Given the description of an element on the screen output the (x, y) to click on. 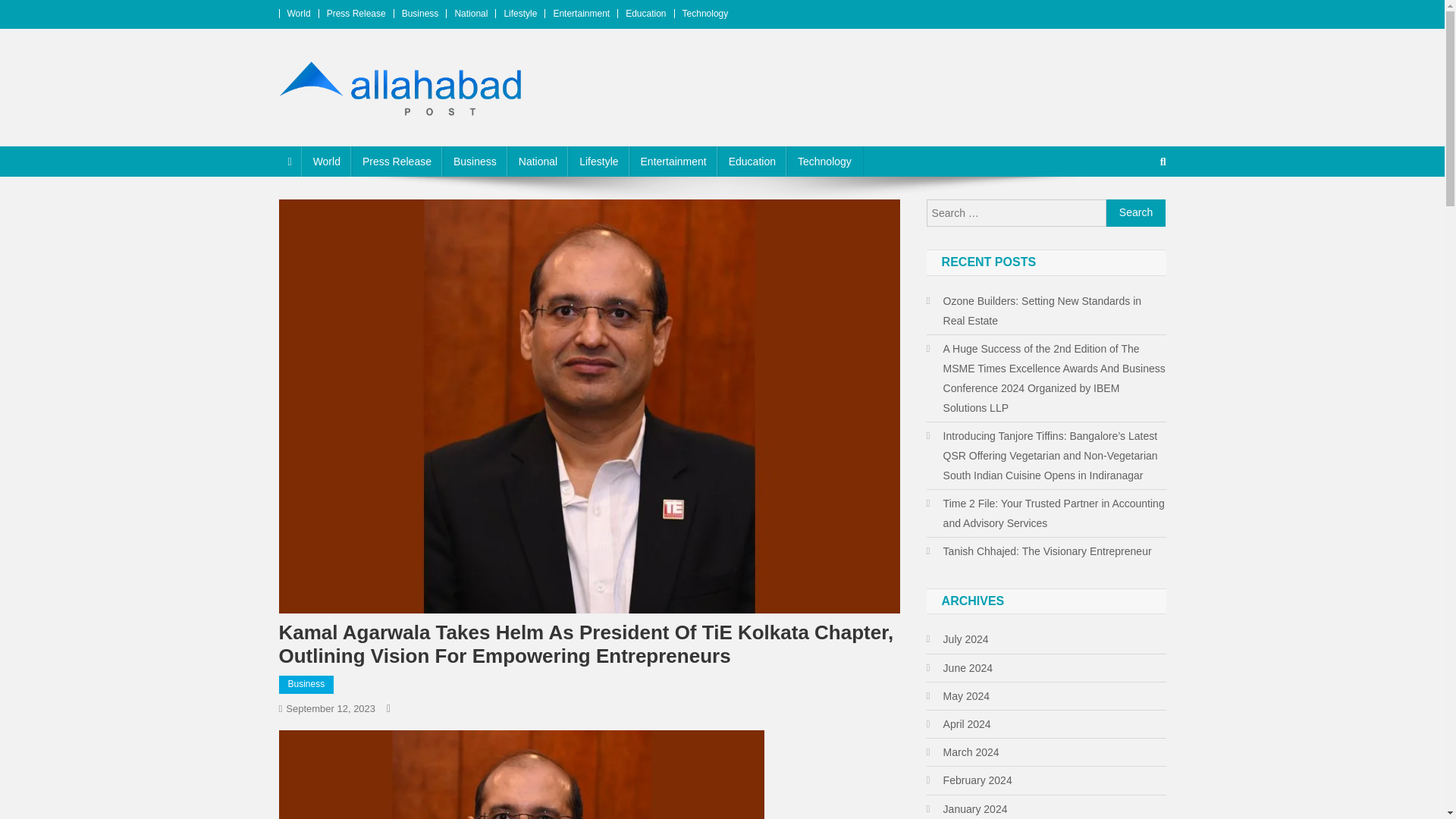
Technology (824, 161)
Entertainment (581, 13)
Entertainment (673, 161)
Business (474, 161)
Lifestyle (598, 161)
Search (1136, 212)
Search (1136, 212)
Press Release (355, 13)
Business (306, 684)
September 12, 2023 (330, 708)
Technology (705, 13)
Allahabad Post (366, 130)
World (326, 161)
Press Release (397, 161)
National (537, 161)
